Given the description of an element on the screen output the (x, y) to click on. 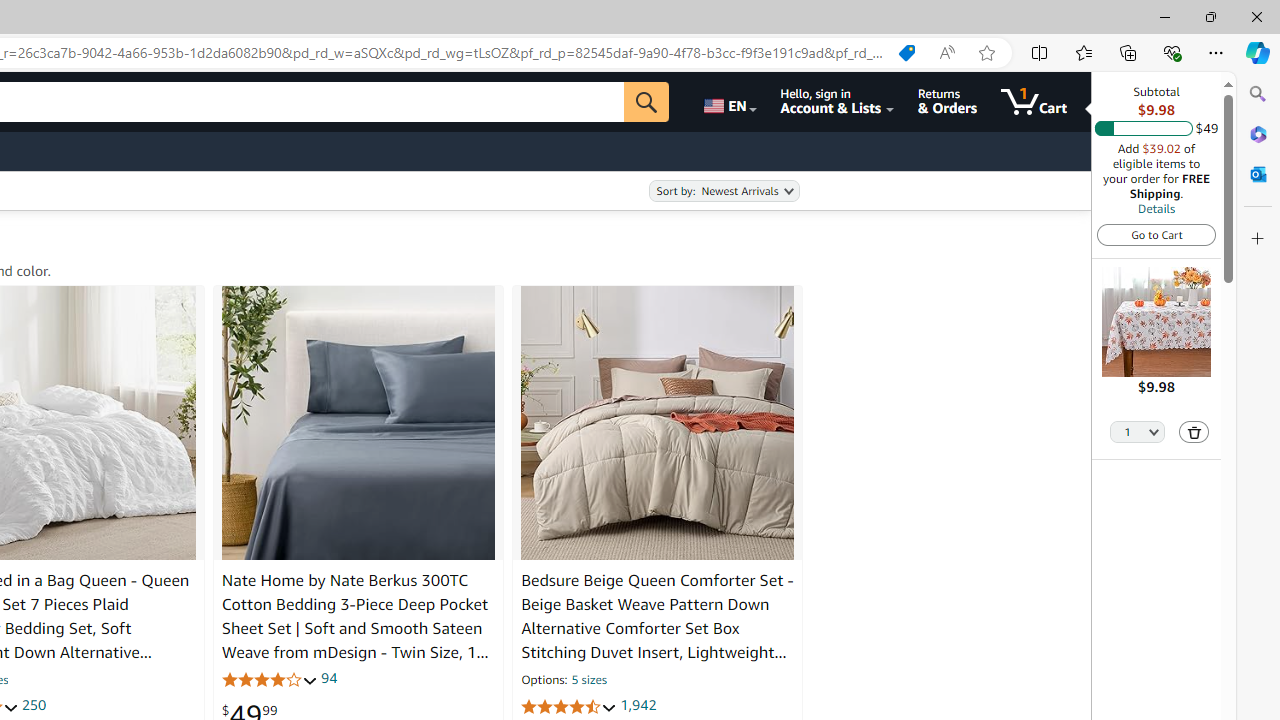
94 (328, 678)
Choose a language for shopping. (728, 101)
